Given the description of an element on the screen output the (x, y) to click on. 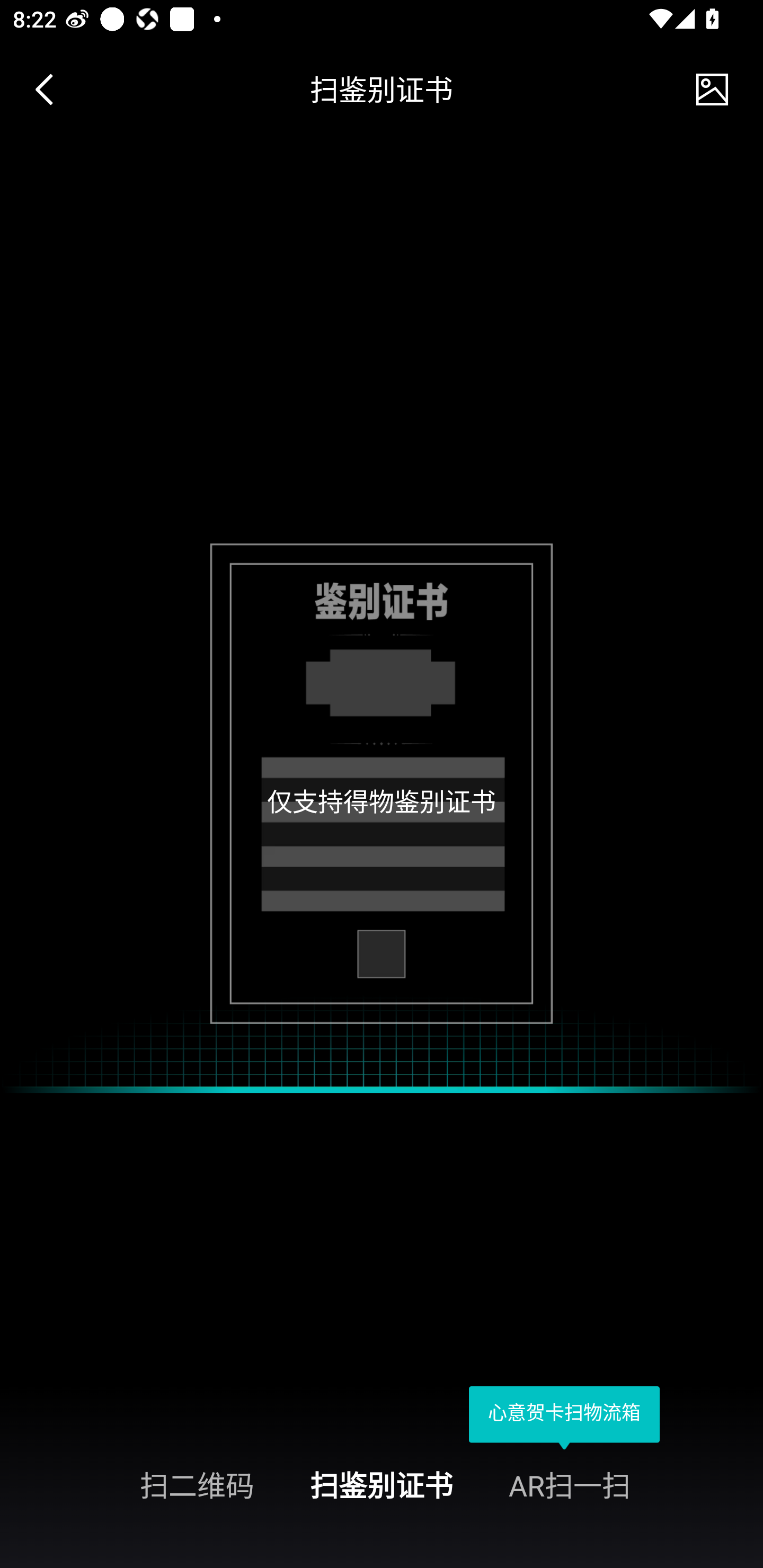
 (51, 89)
 (711, 89)
扫二维码 (127, 1484)
扫鉴别证书 (381, 1484)
AR扫一扫 (635, 1484)
